Given the description of an element on the screen output the (x, y) to click on. 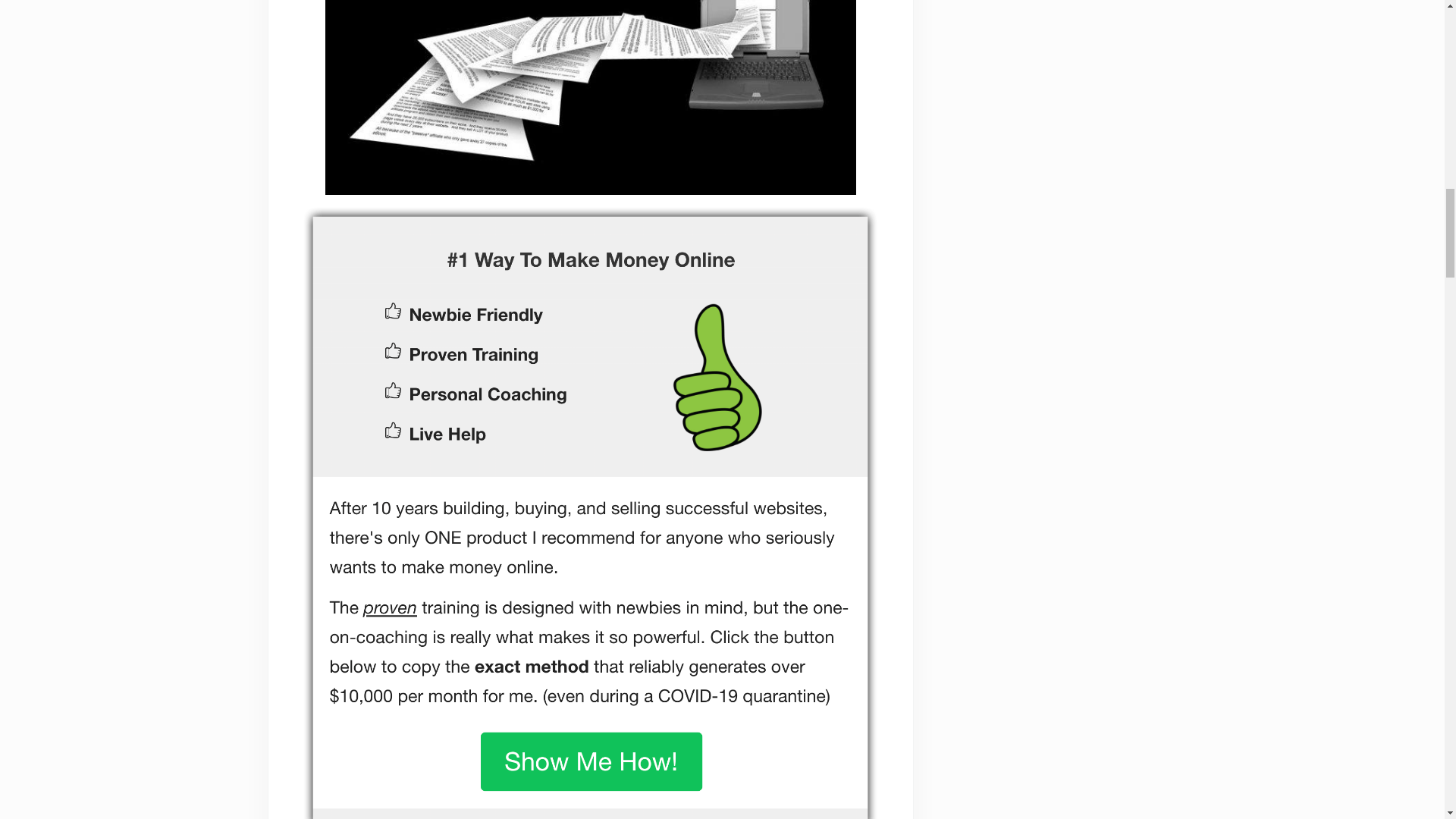
Make Money Selling Information Products (590, 97)
